Given the description of an element on the screen output the (x, y) to click on. 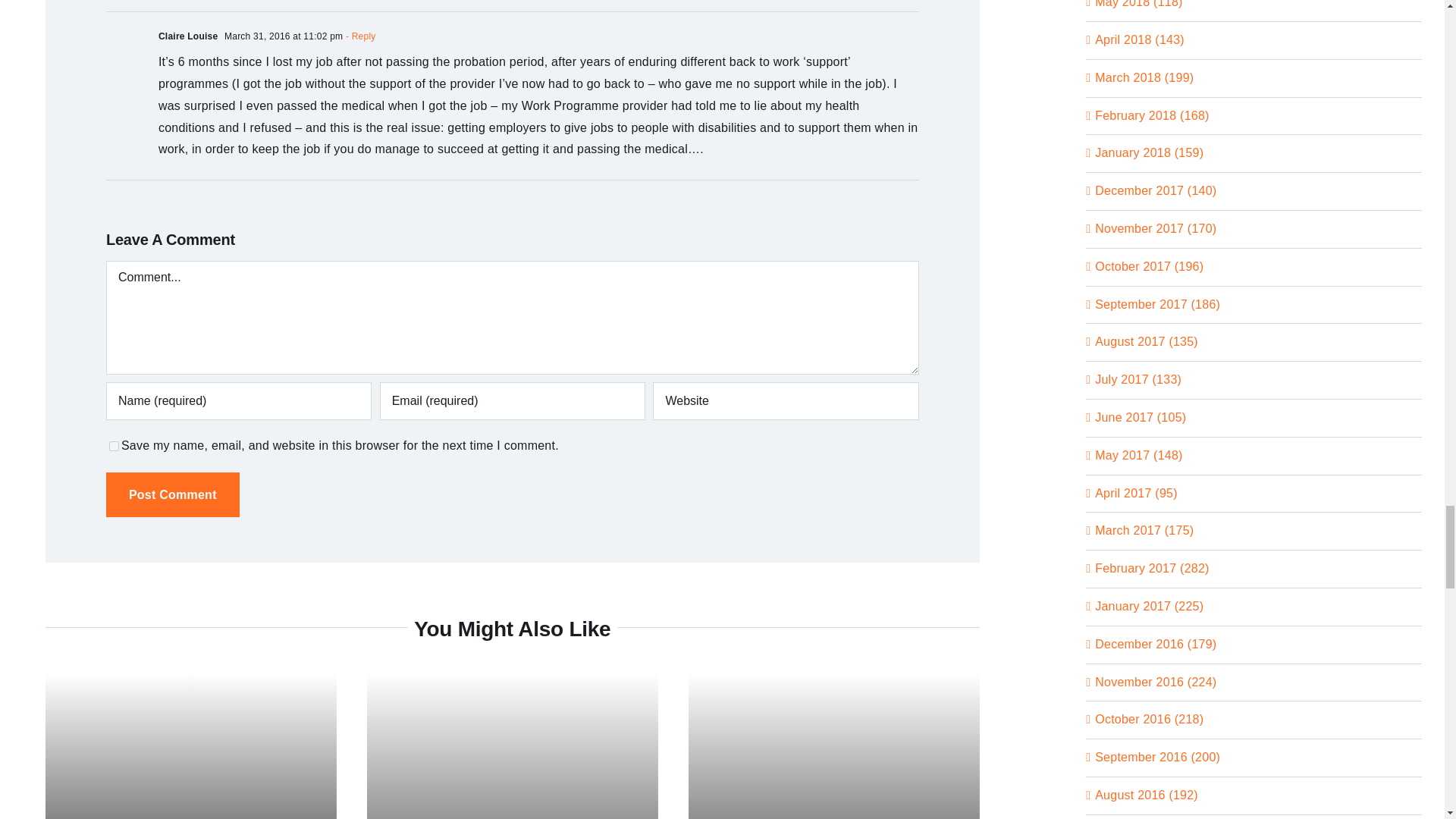
yes (114, 446)
Post Comment (173, 494)
- Reply (358, 36)
Post Comment (173, 494)
